Given the description of an element on the screen output the (x, y) to click on. 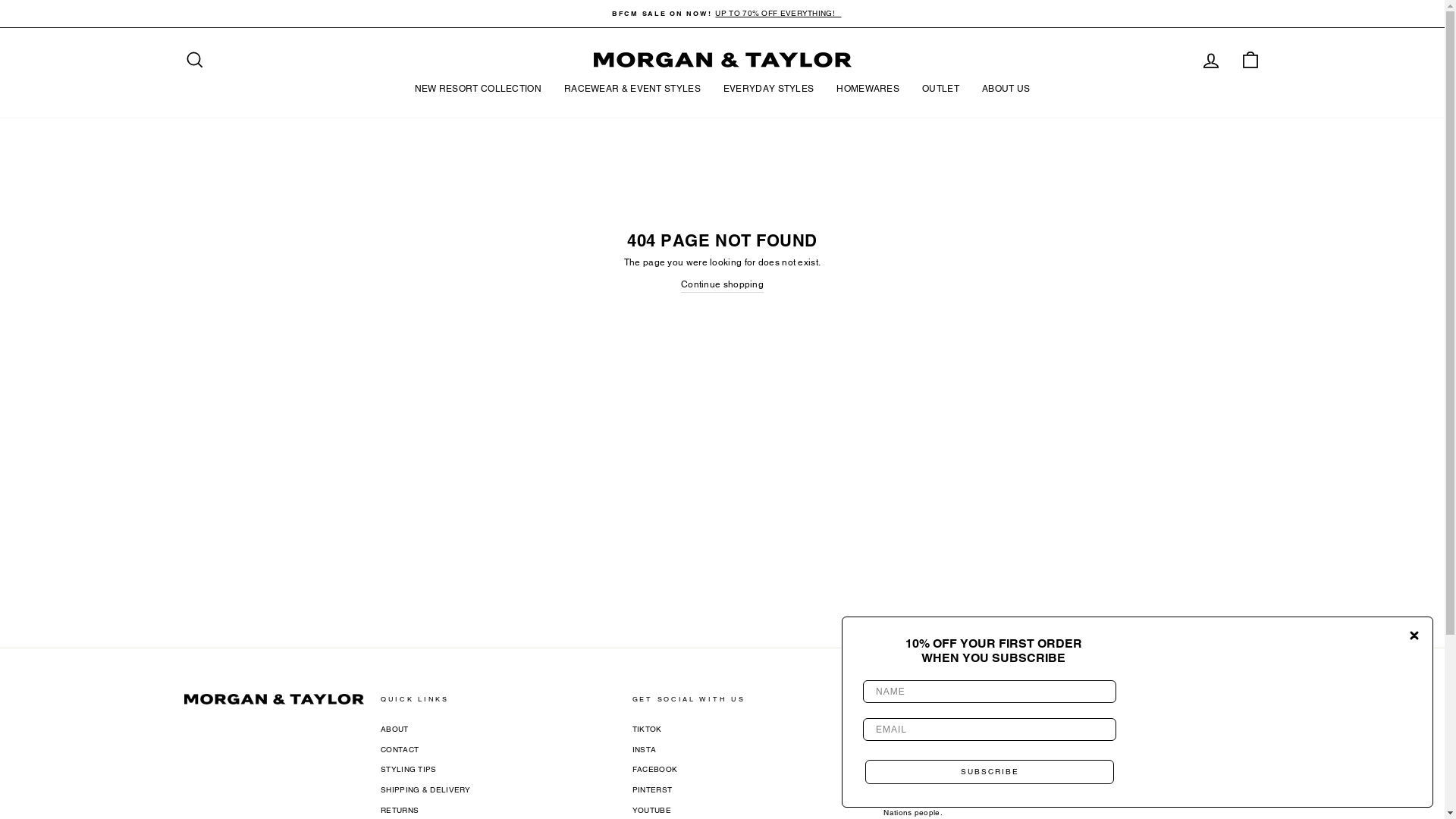
Welcome to Morgan & Taylor's Party of the Yea Element type: hover (1284, 711)
Log in Element type: text (1210, 59)
Search Element type: text (193, 59)
Skip to content Element type: text (0, 0)
CONTACT Element type: text (399, 749)
HOMEWARES Element type: text (867, 88)
EVERYDAY STYLES Element type: text (768, 88)
FACEBOOK Element type: text (654, 769)
PINTERST Element type: text (651, 790)
SHIPPING & DELIVERY Element type: text (425, 790)
Cart Element type: text (1249, 59)
RACEWEAR & EVENT STYLES Element type: text (632, 88)
ABOUT Element type: text (394, 729)
STYLING TIPS Element type: text (408, 769)
NEW RESORT COLLECTION Element type: text (477, 88)
INSTA Element type: text (644, 749)
TIKTOK Element type: text (647, 729)
ABOUT US Element type: text (1005, 88)
Continue shopping Element type: text (721, 284)
OUTLET Element type: text (940, 88)
